Given the description of an element on the screen output the (x, y) to click on. 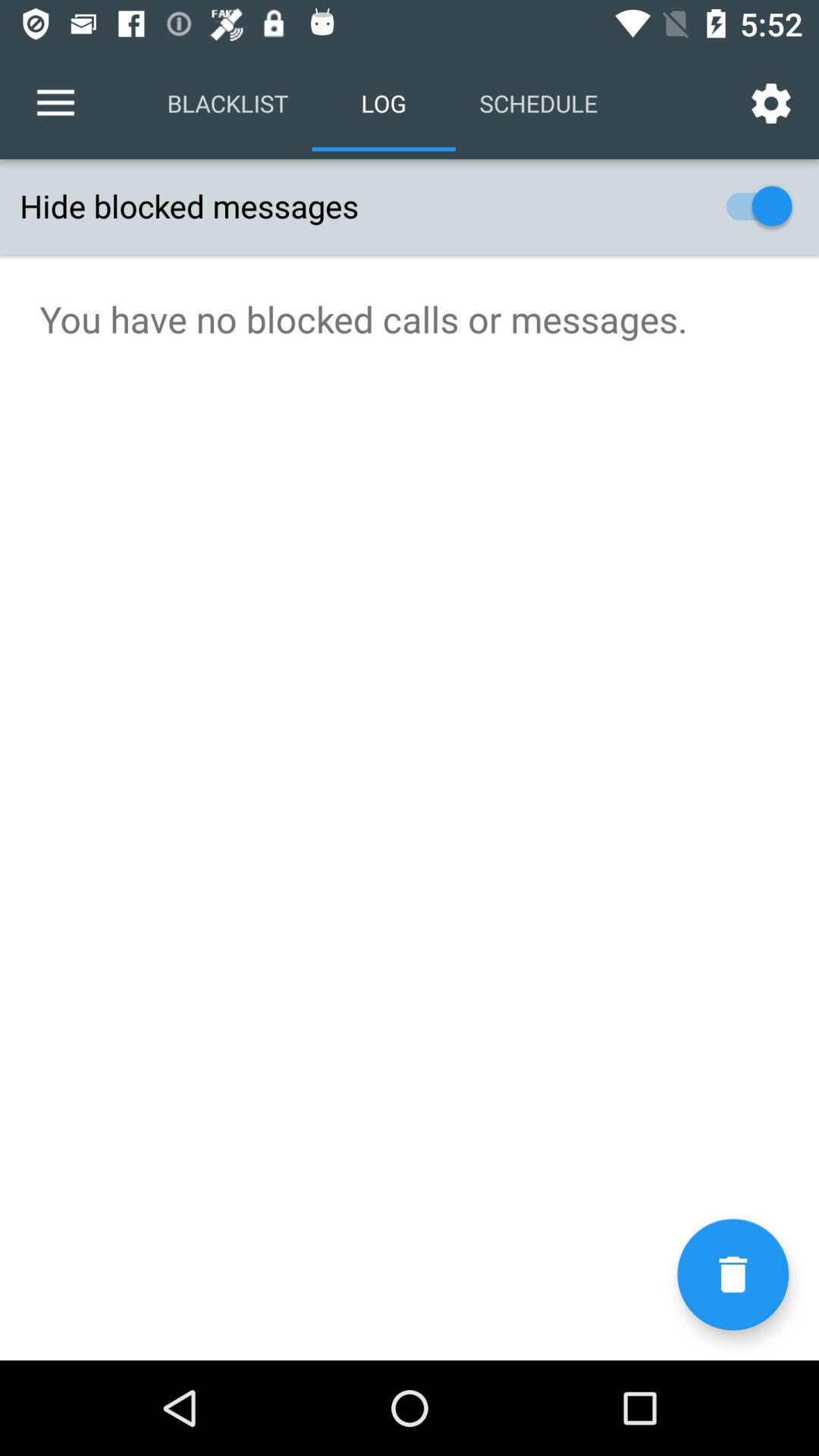
turn on item at the top right corner (771, 103)
